Given the description of an element on the screen output the (x, y) to click on. 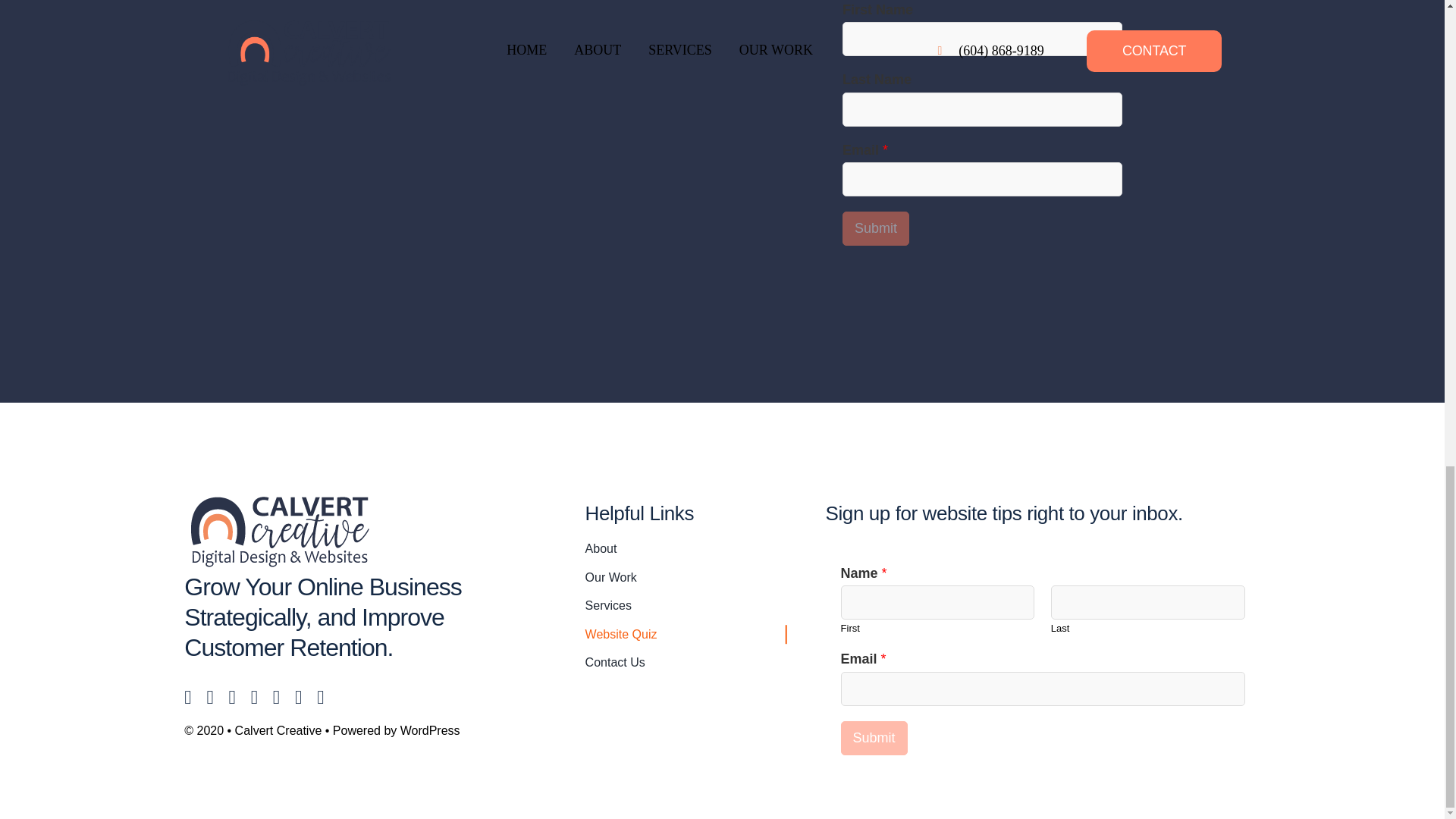
Submit (874, 738)
Submit (875, 228)
Contact Us (686, 662)
vancouver-website-design-5 (279, 529)
Website Quiz (686, 634)
Our Work (686, 578)
About (686, 548)
Services (686, 605)
